Given the description of an element on the screen output the (x, y) to click on. 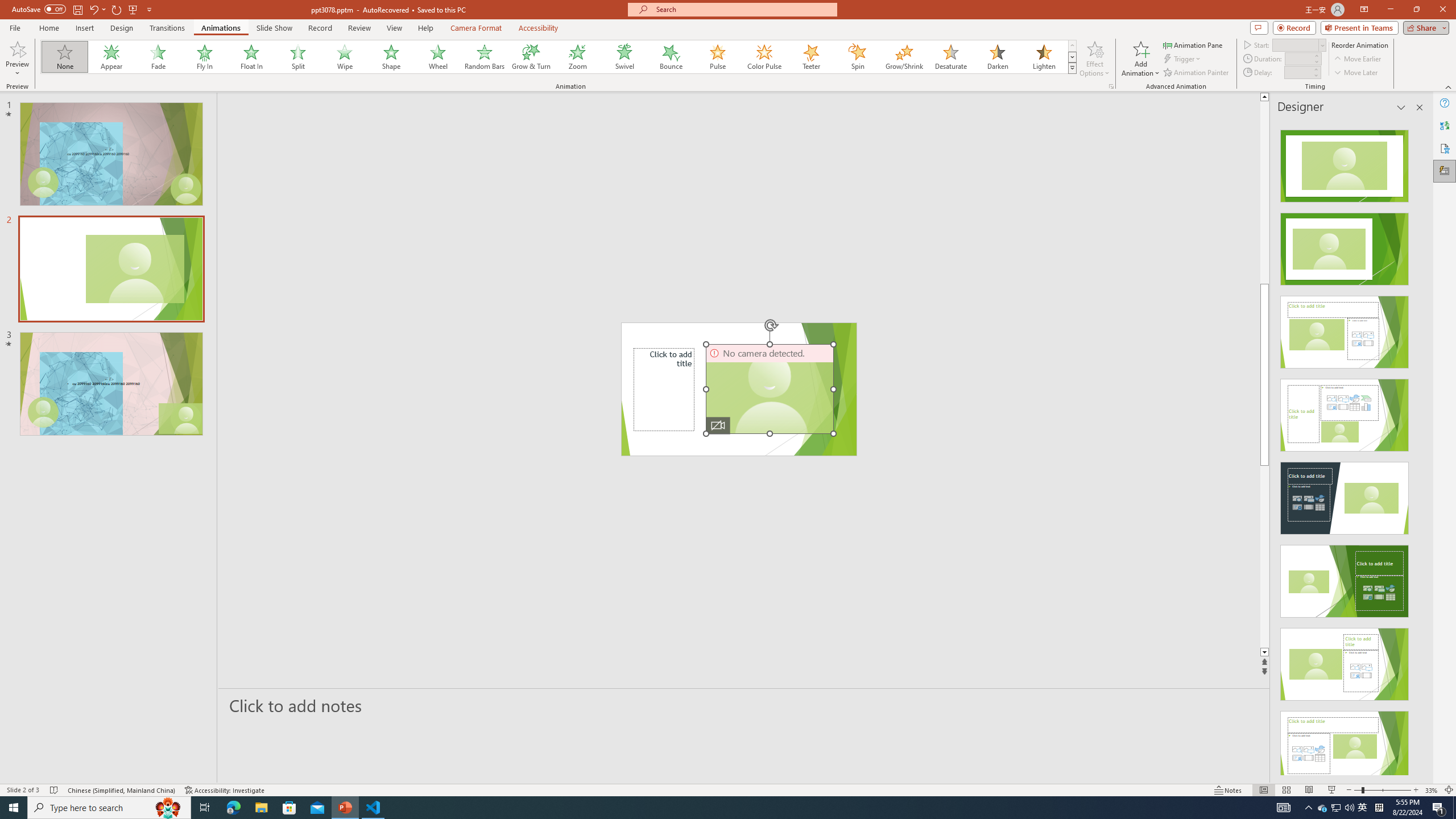
Zoom 33% (1431, 790)
Animation Delay (1297, 72)
Camera 3, No camera detected. (769, 388)
Move Earlier (1357, 58)
